Given the description of an element on the screen output the (x, y) to click on. 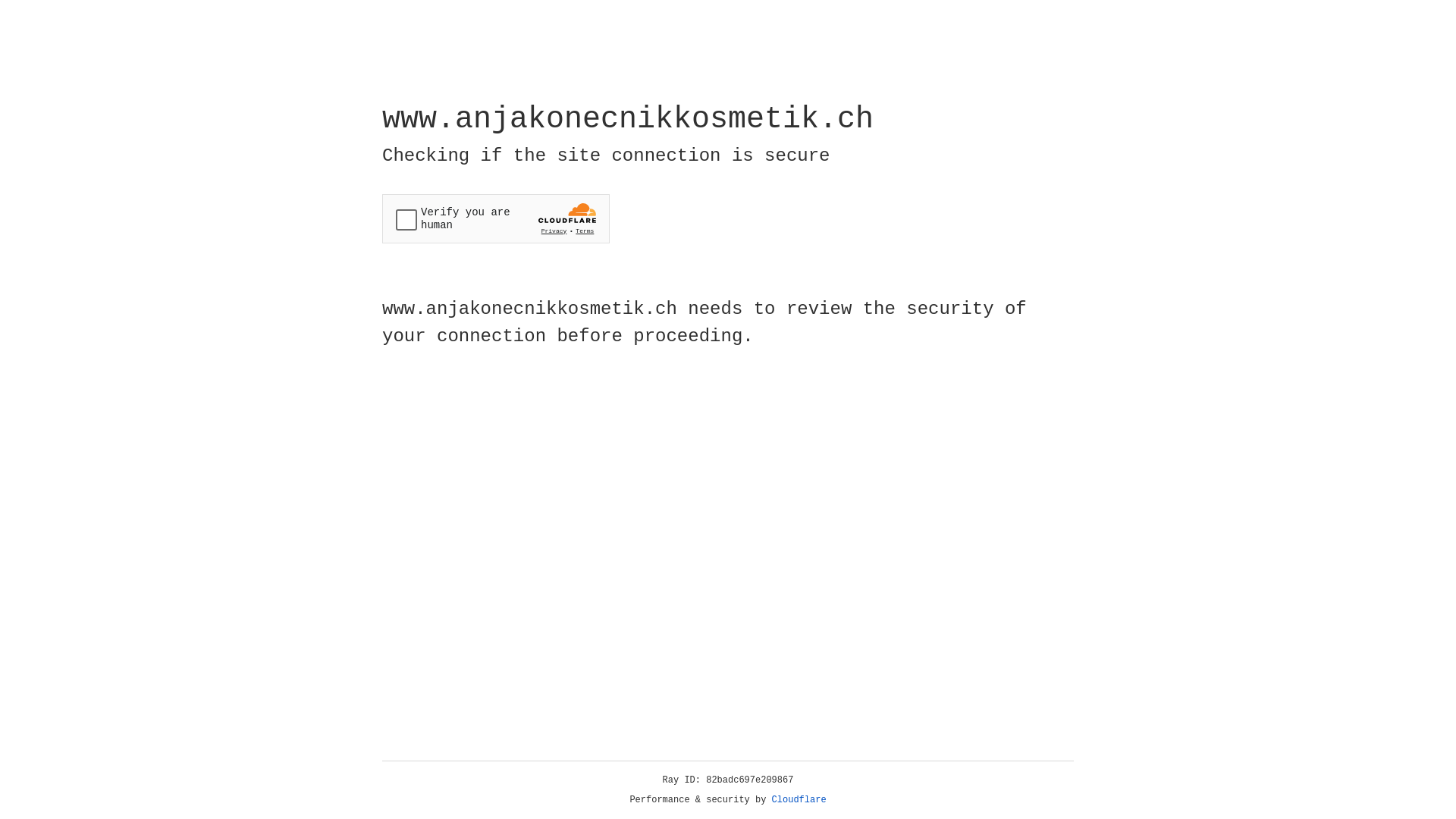
Cloudflare Element type: text (798, 799)
Widget containing a Cloudflare security challenge Element type: hover (495, 218)
